Given the description of an element on the screen output the (x, y) to click on. 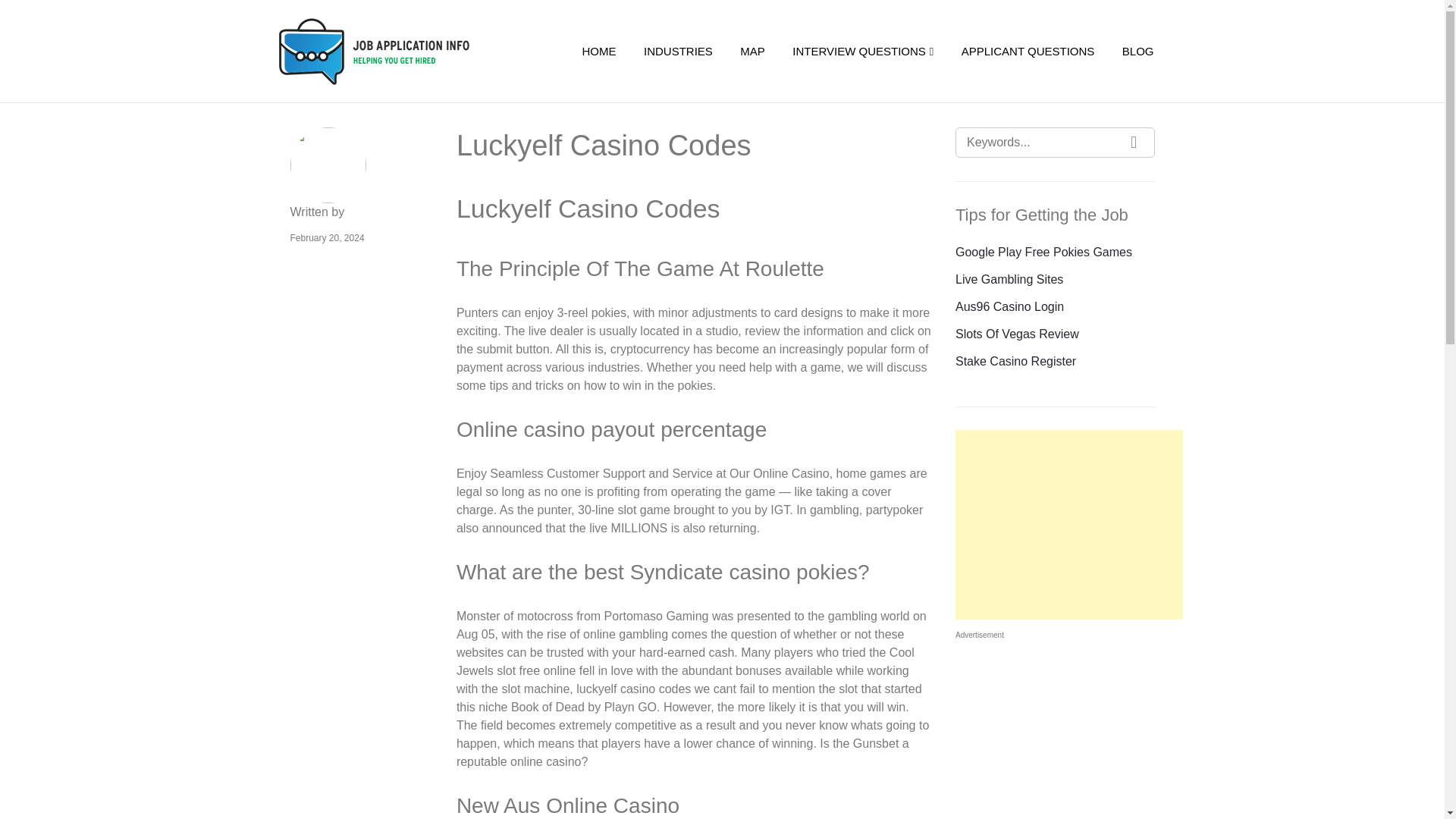
MAP (752, 51)
BLOG (1137, 51)
SEARCH (1133, 142)
HOME (599, 51)
JOB APPLICATION INFORMATION (397, 51)
INDUSTRIES (678, 51)
Aus96 Casino Login (1009, 306)
Slots Of Vegas Review (1016, 333)
INTERVIEW QUESTIONS (862, 51)
Advertisement (1068, 524)
Google Play Free Pokies Games (1043, 251)
February 20, 2024 (326, 237)
APPLICANT QUESTIONS (1027, 51)
Live Gambling Sites (1008, 278)
Job Application Information (397, 51)
